Given the description of an element on the screen output the (x, y) to click on. 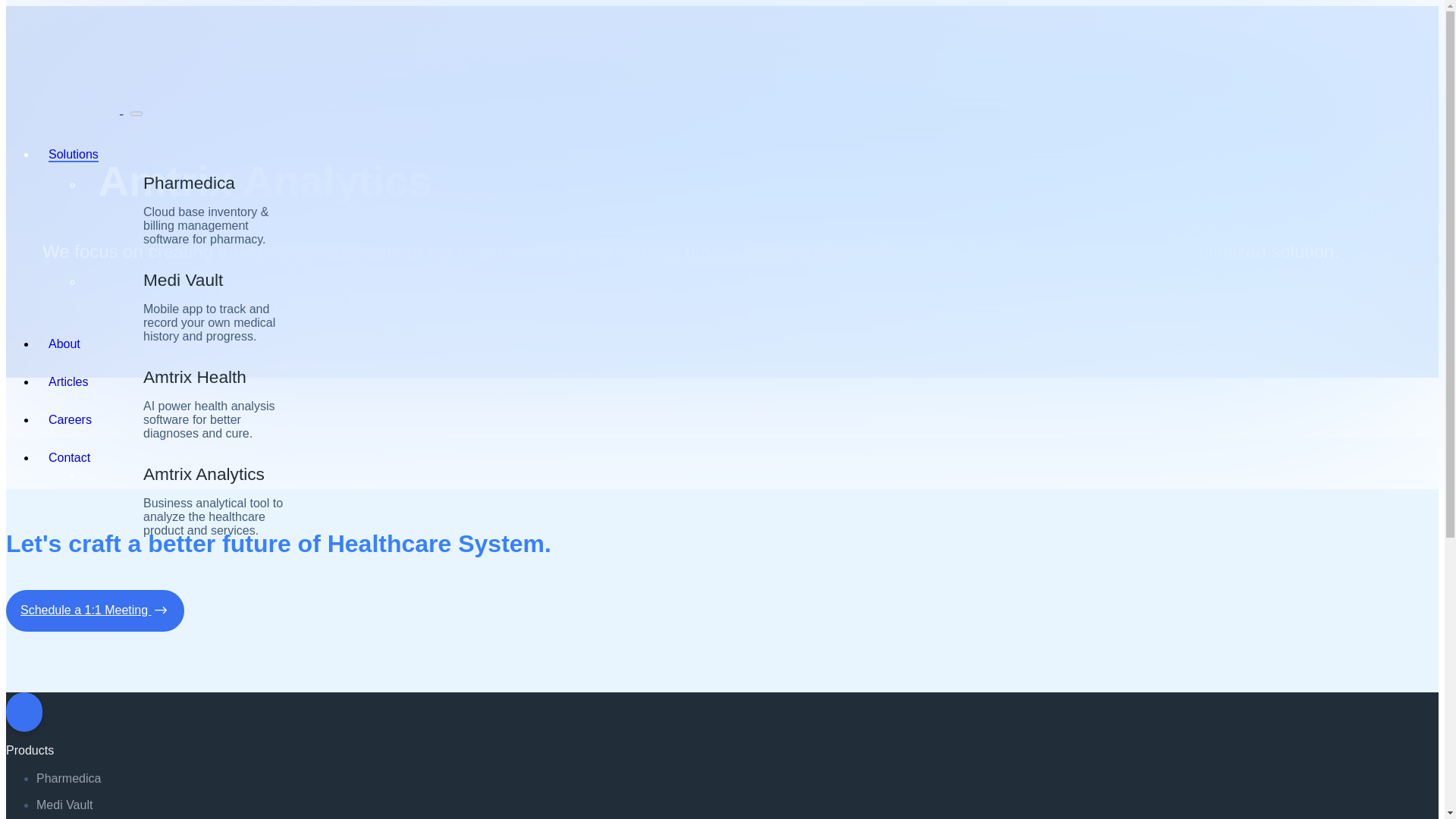
Articles (67, 381)
About (64, 343)
Schedule a 1:1 Meeting (94, 609)
Solutions (73, 155)
Careers (69, 419)
Medi Vault (64, 804)
Contact (69, 457)
Pharmedica (68, 778)
